Given the description of an element on the screen output the (x, y) to click on. 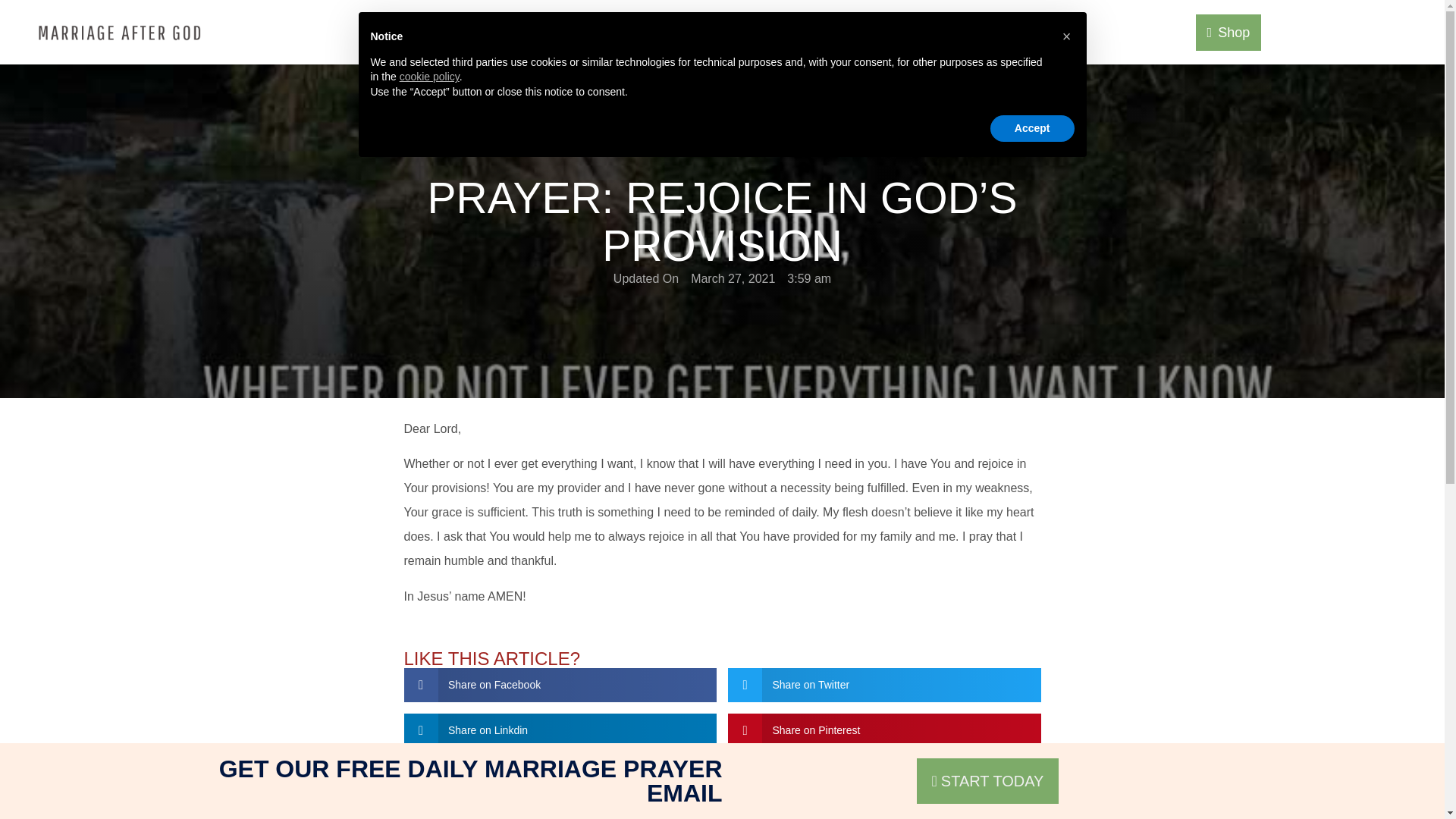
Get Free Daily Prayer Emails (970, 32)
Podcast (713, 32)
Articles (801, 32)
Home (631, 32)
